Given the description of an element on the screen output the (x, y) to click on. 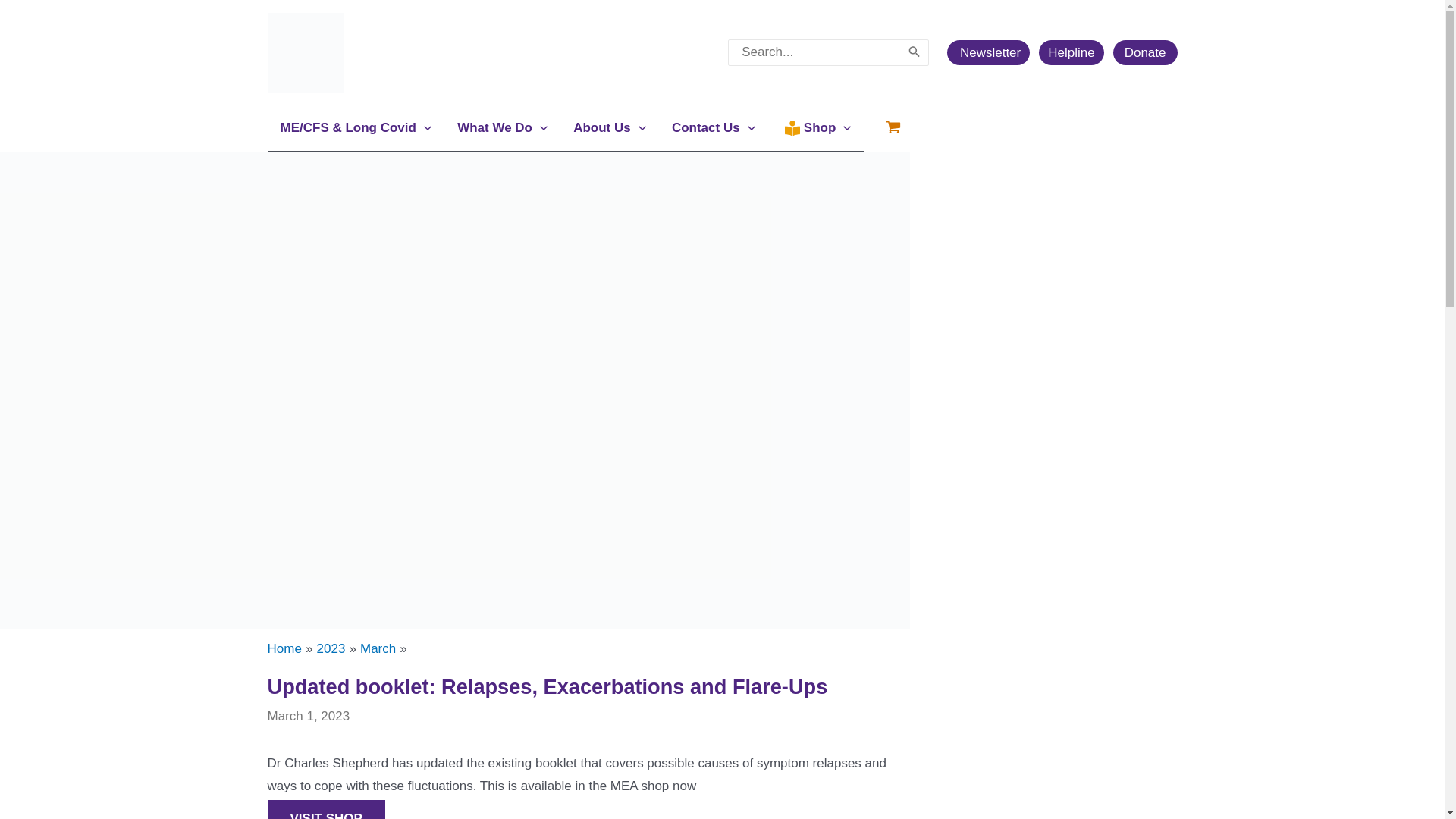
Newsletter (993, 51)
What We Do (502, 127)
Donate (1145, 52)
Helpline (1075, 51)
Donate (1145, 51)
Newsletter (988, 52)
Helpline (1071, 52)
